Given the description of an element on the screen output the (x, y) to click on. 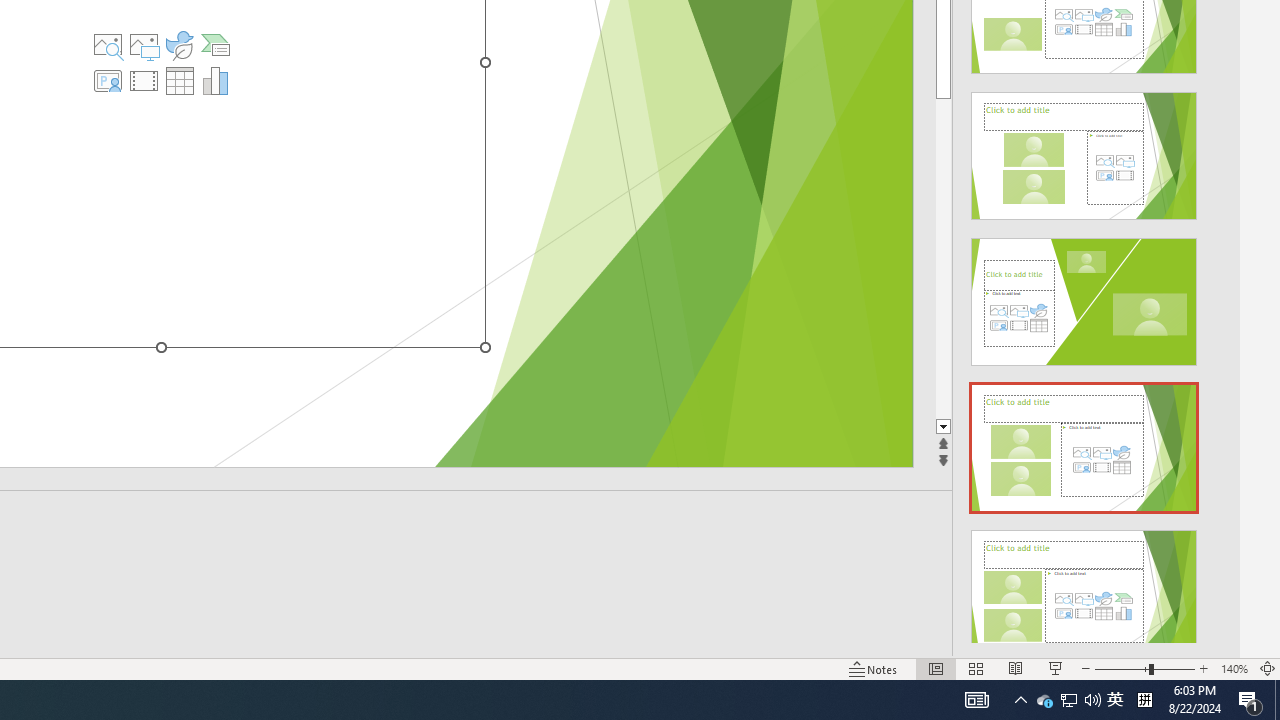
Zoom 140% (1234, 668)
Insert Video (144, 80)
Insert Chart (215, 80)
Insert an Icon (179, 44)
Insert Table (179, 80)
Design Idea (1083, 587)
Pictures (144, 44)
